Given the description of an element on the screen output the (x, y) to click on. 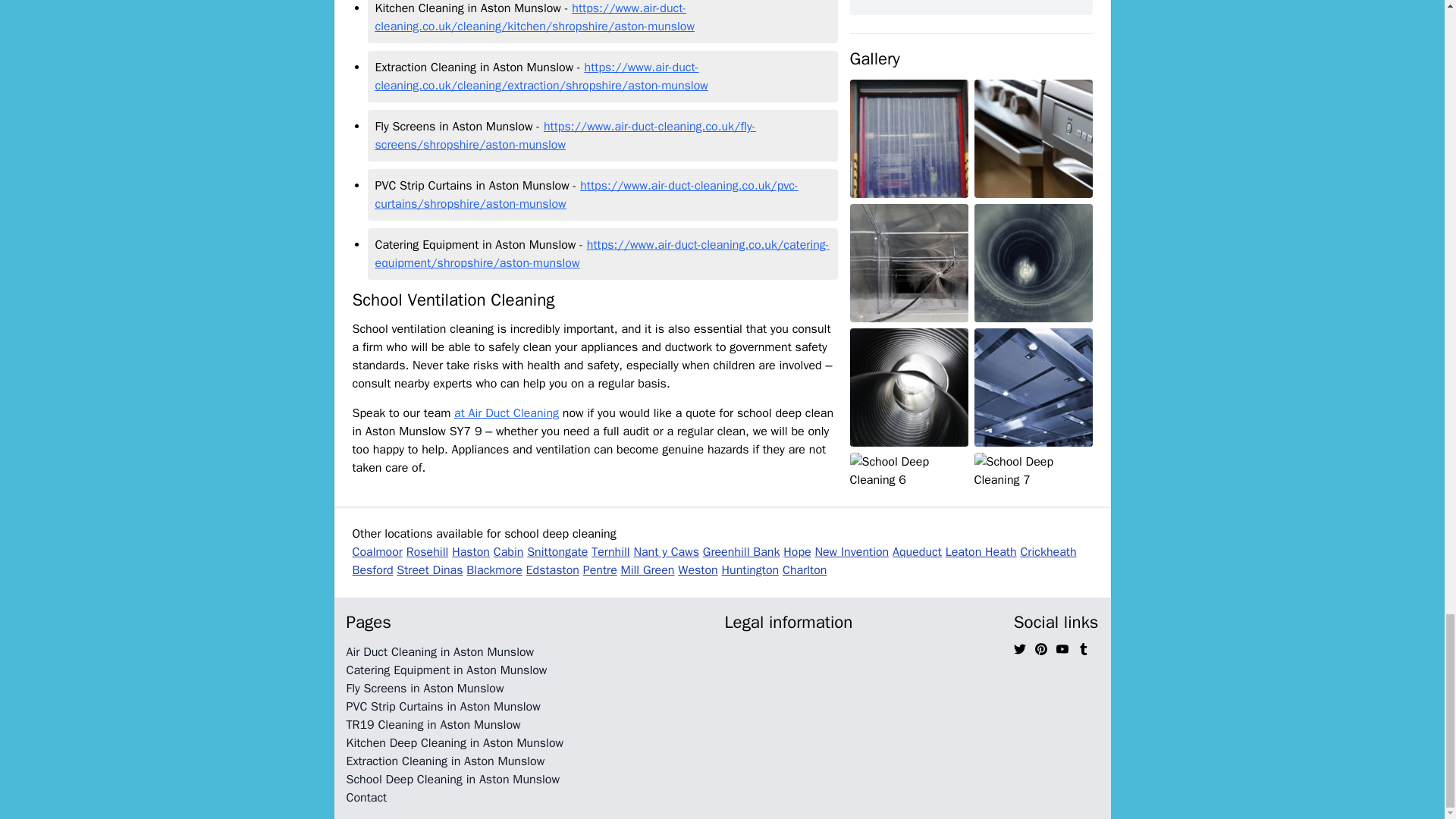
at Air Duct Cleaning (506, 412)
